Given the description of an element on the screen output the (x, y) to click on. 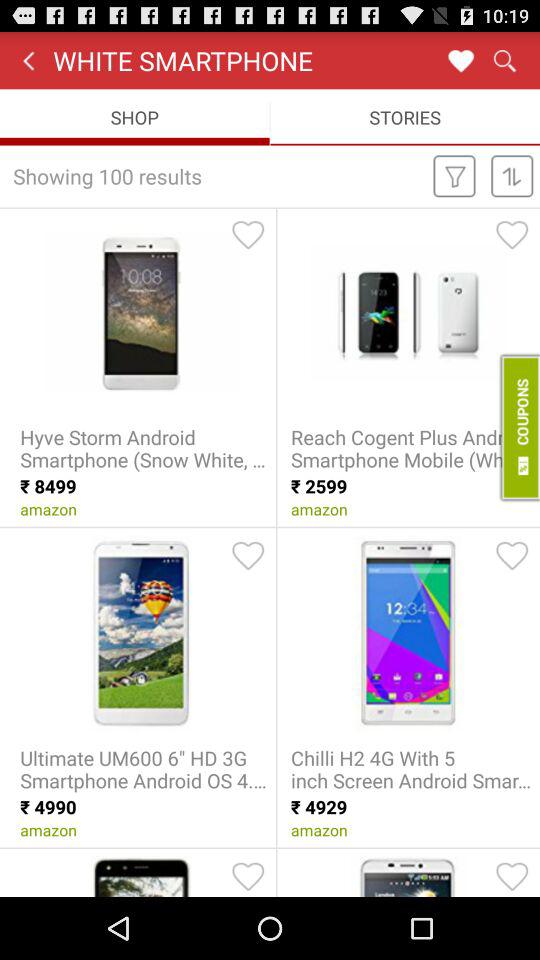
like this item (248, 555)
